Given the description of an element on the screen output the (x, y) to click on. 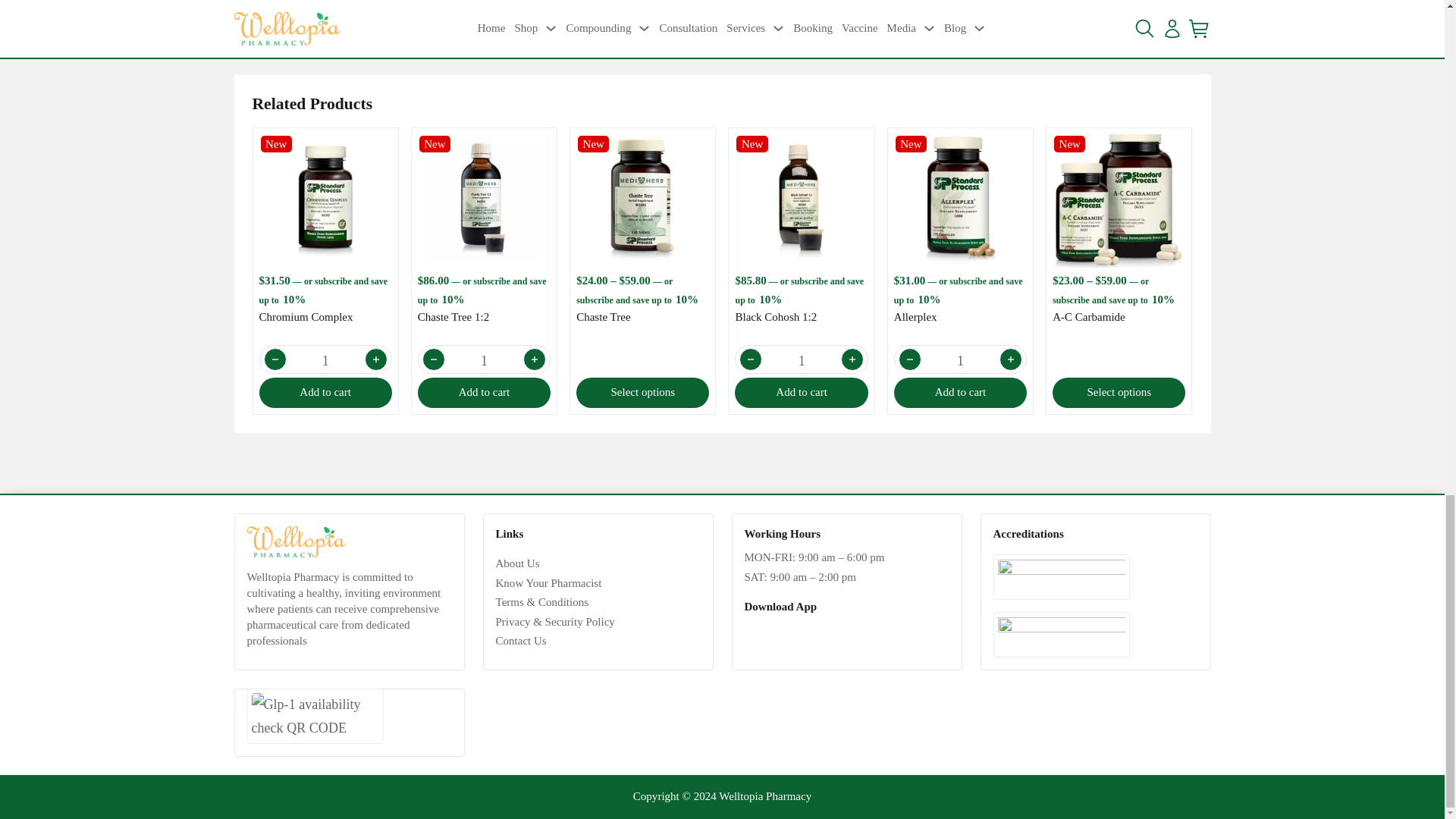
1 (959, 360)
1 (800, 360)
1 (483, 360)
1 (325, 360)
